Given the description of an element on the screen output the (x, y) to click on. 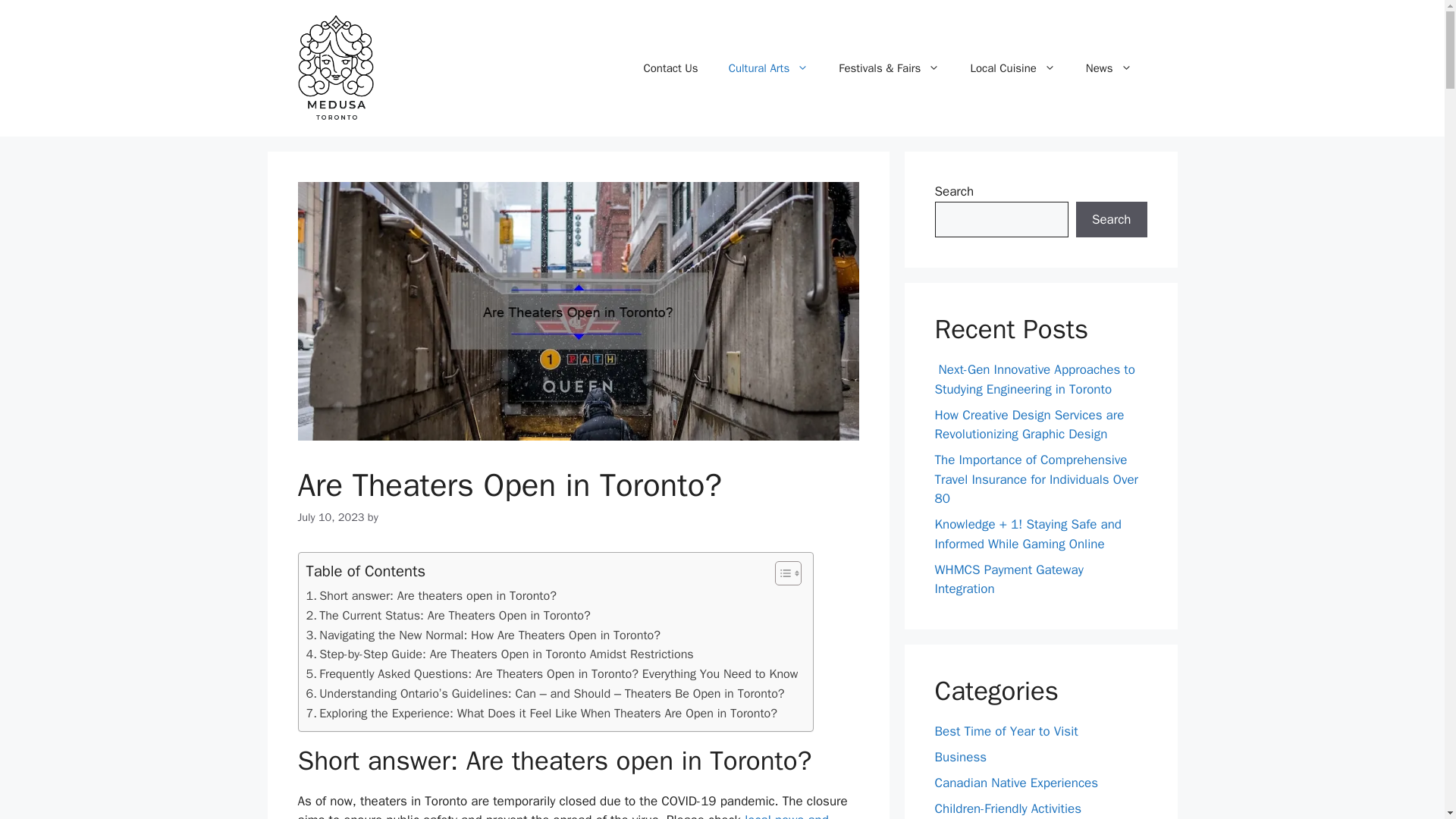
News (1108, 67)
Local Cuisine (1012, 67)
Contact Us (670, 67)
The Current Status: Are Theaters Open in Toronto? (448, 615)
Navigating the New Normal: How Are Theaters Open in Toronto? (483, 635)
Short answer: Are theaters open in Toronto? (430, 596)
